Given the description of an element on the screen output the (x, y) to click on. 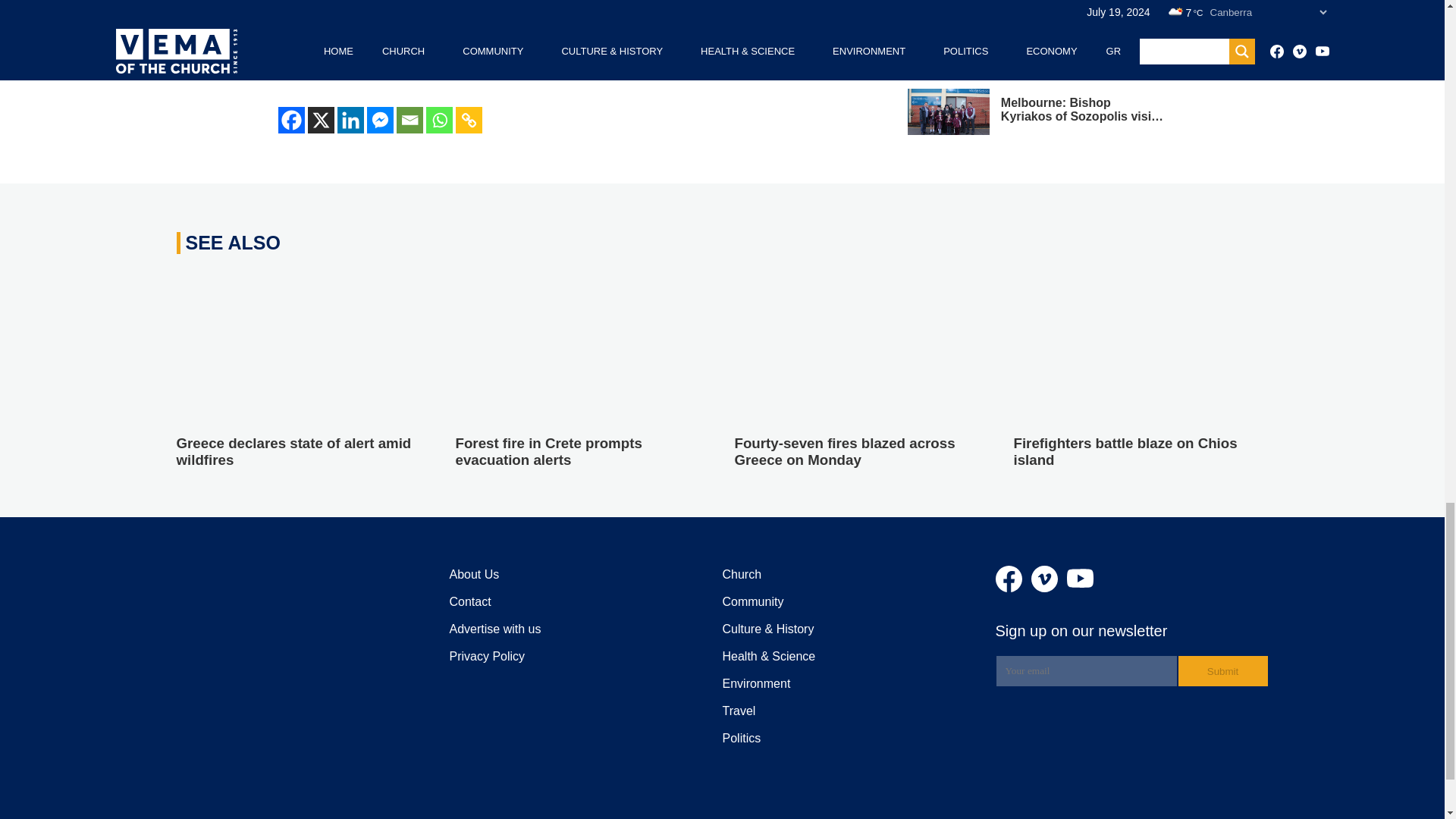
Copy Link (467, 120)
Saint John's Community Care (579, 28)
Email (409, 120)
Facebook (291, 120)
X (320, 120)
Linkedin (349, 120)
Whatsapp (439, 120)
